Given the description of an element on the screen output the (x, y) to click on. 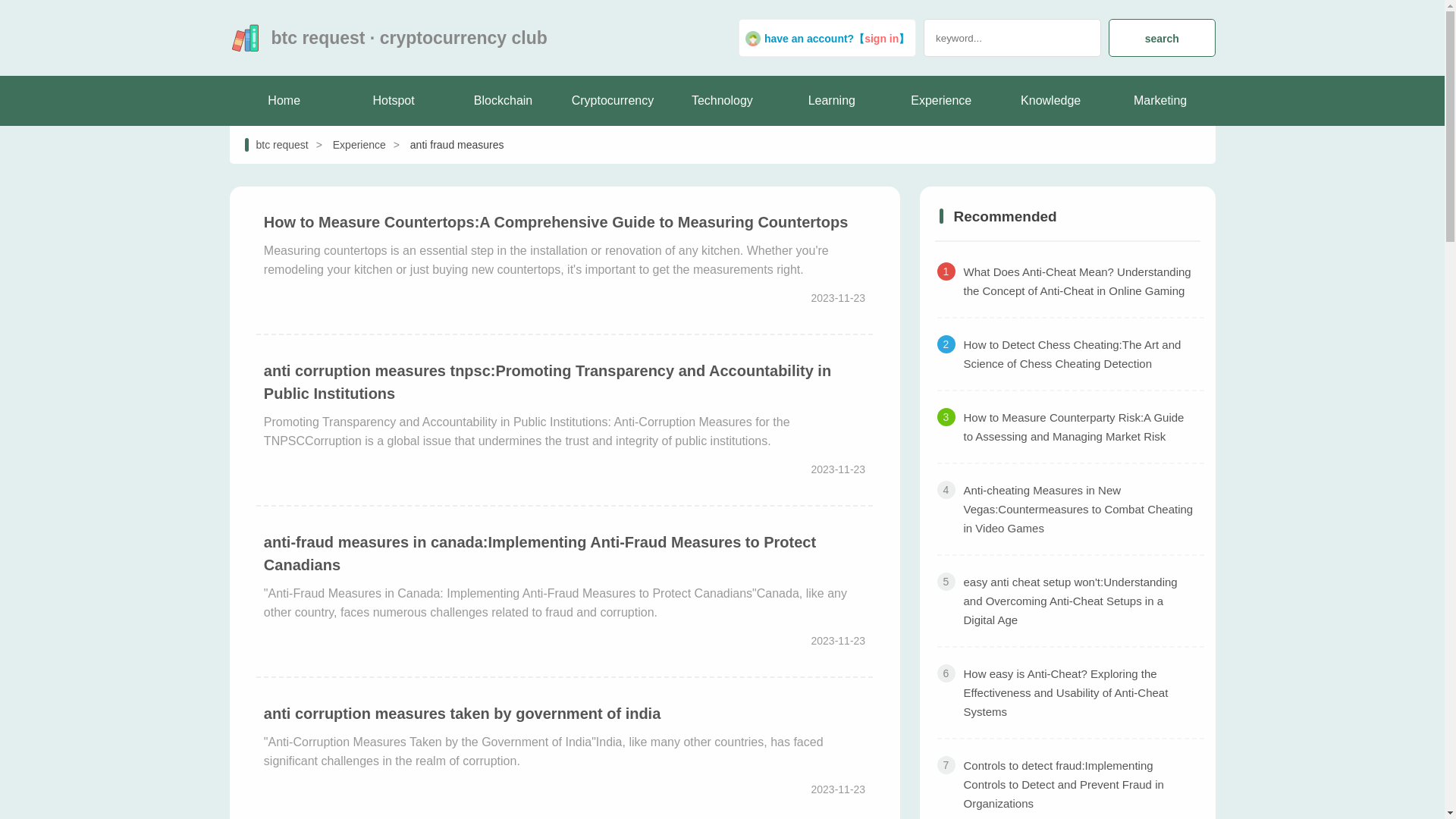
Hotspot (393, 101)
Learning (831, 101)
Blockchain (502, 101)
Technology (721, 101)
anti corruption measures taken by government of india (462, 713)
Marketing (1159, 101)
Technology (721, 101)
Home (282, 101)
search (1161, 37)
home (282, 101)
